Given the description of an element on the screen output the (x, y) to click on. 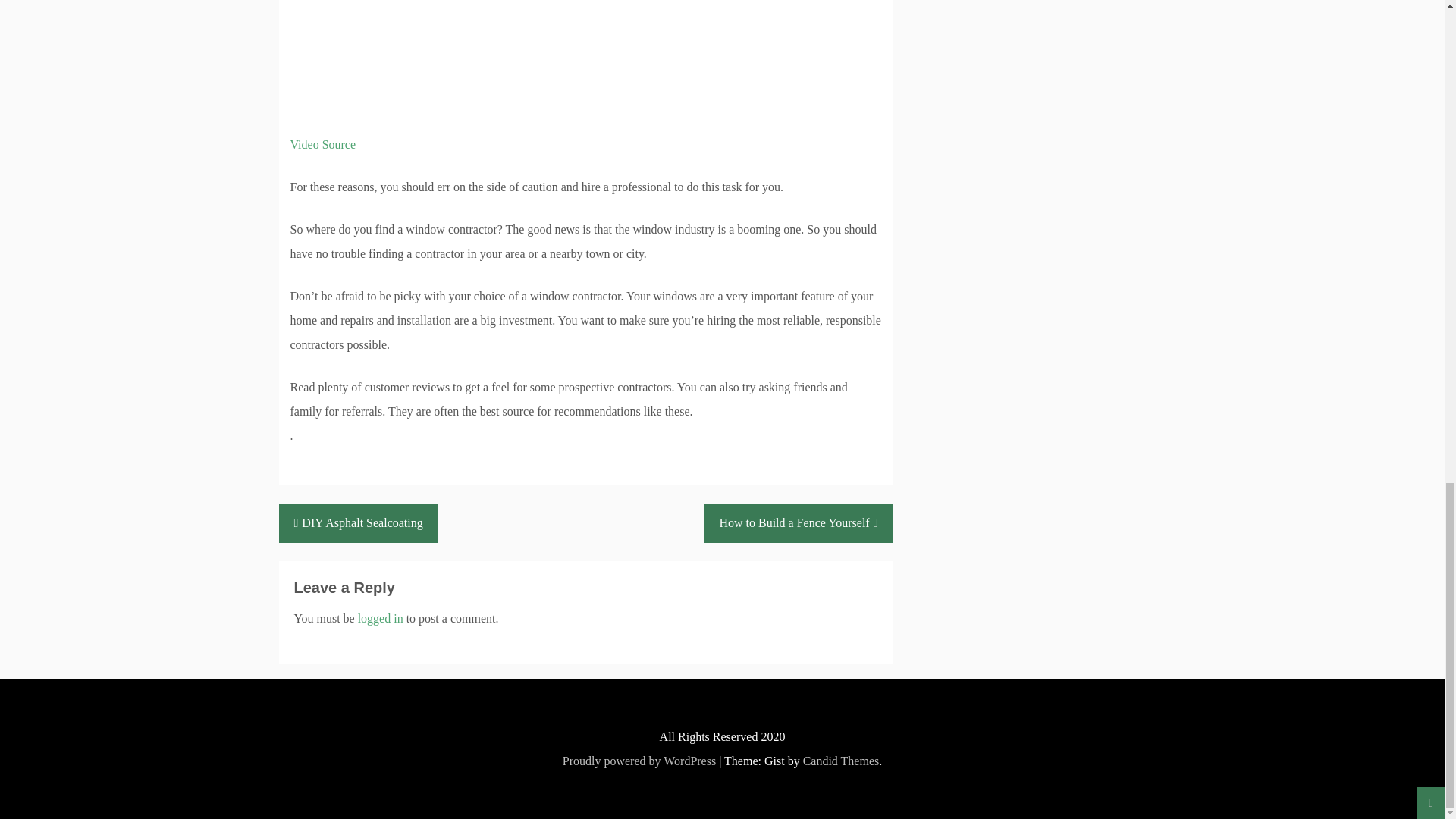
DIY Asphalt Sealcoating (358, 522)
Candid Themes (841, 760)
logged in (380, 617)
How to Build a Fence Yourself (797, 522)
Proudly powered by WordPress (639, 760)
Video Source (322, 144)
